Given the description of an element on the screen output the (x, y) to click on. 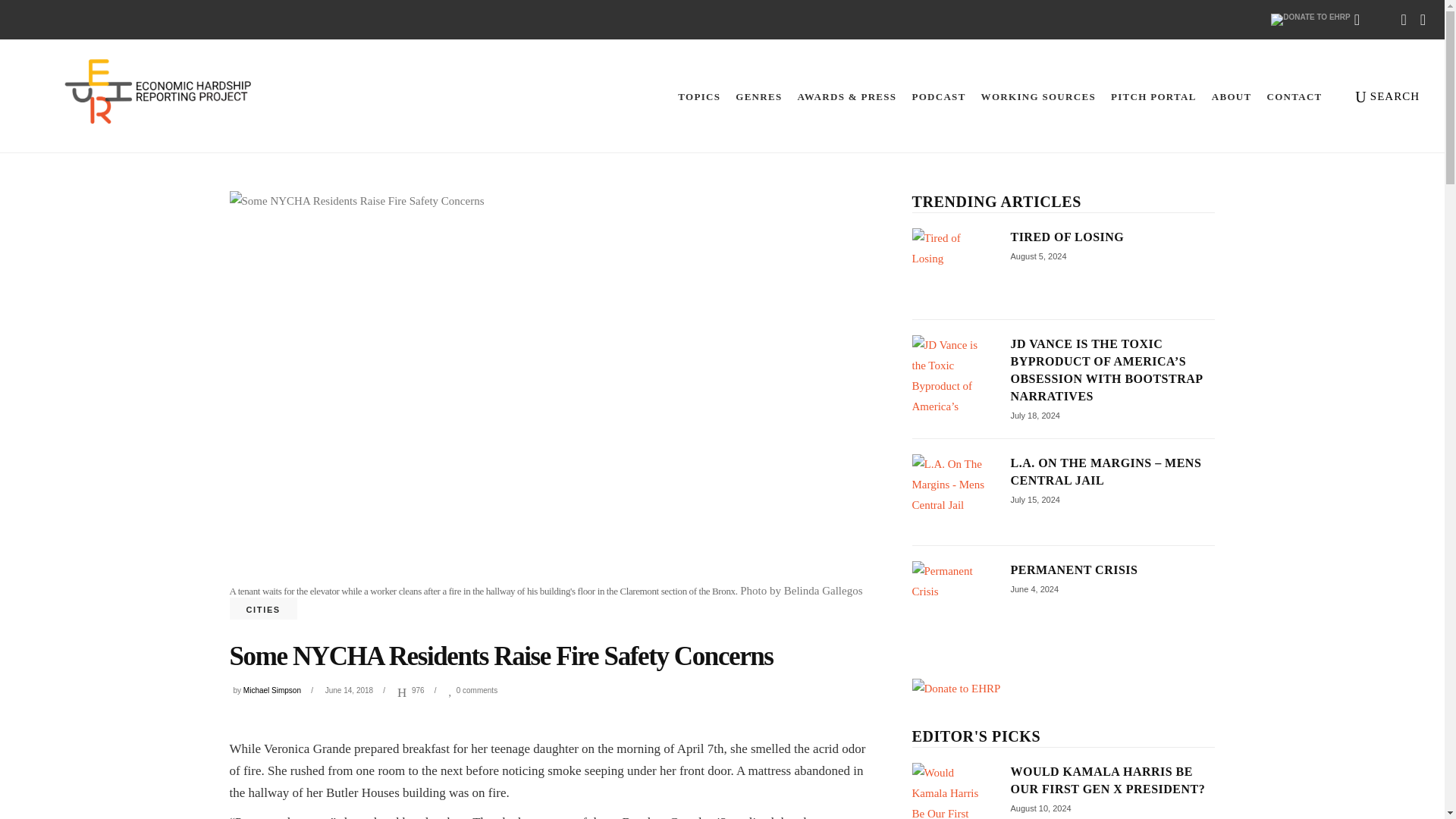
PITCH PORTAL (1153, 95)
Tired of Losing (1067, 236)
WORKING SOURCES (1038, 95)
Tired of Losing (949, 265)
